Given the description of an element on the screen output the (x, y) to click on. 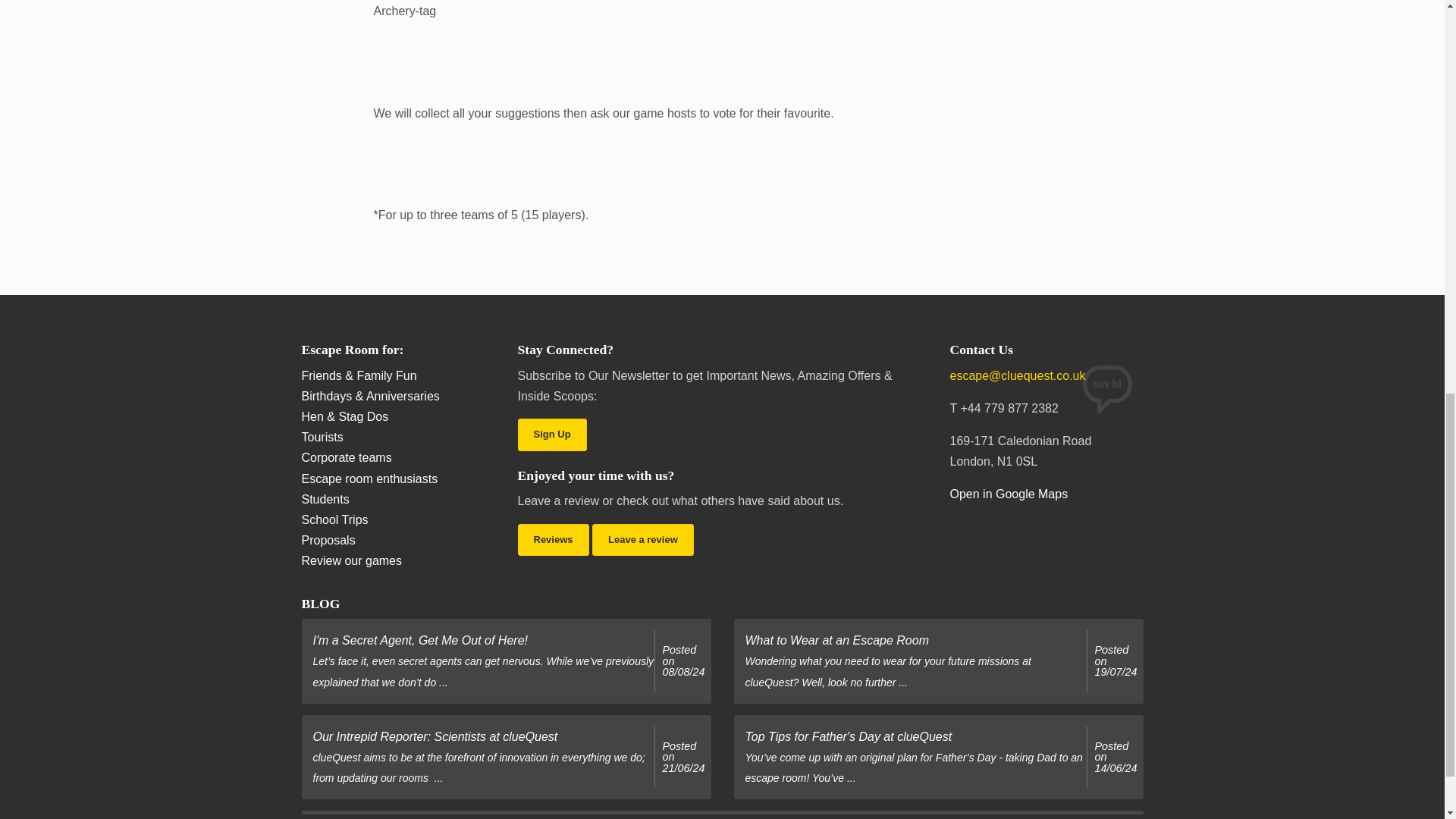
I'm a Secret Agent, Get Me Out of Here!  (683, 660)
Top Tips for Father's Day at clueQuest (1115, 757)
What to Wear at an Escape Room (1115, 660)
Our Intrepid Reporter: Scientists at clueQuest (683, 757)
